Given the description of an element on the screen output the (x, y) to click on. 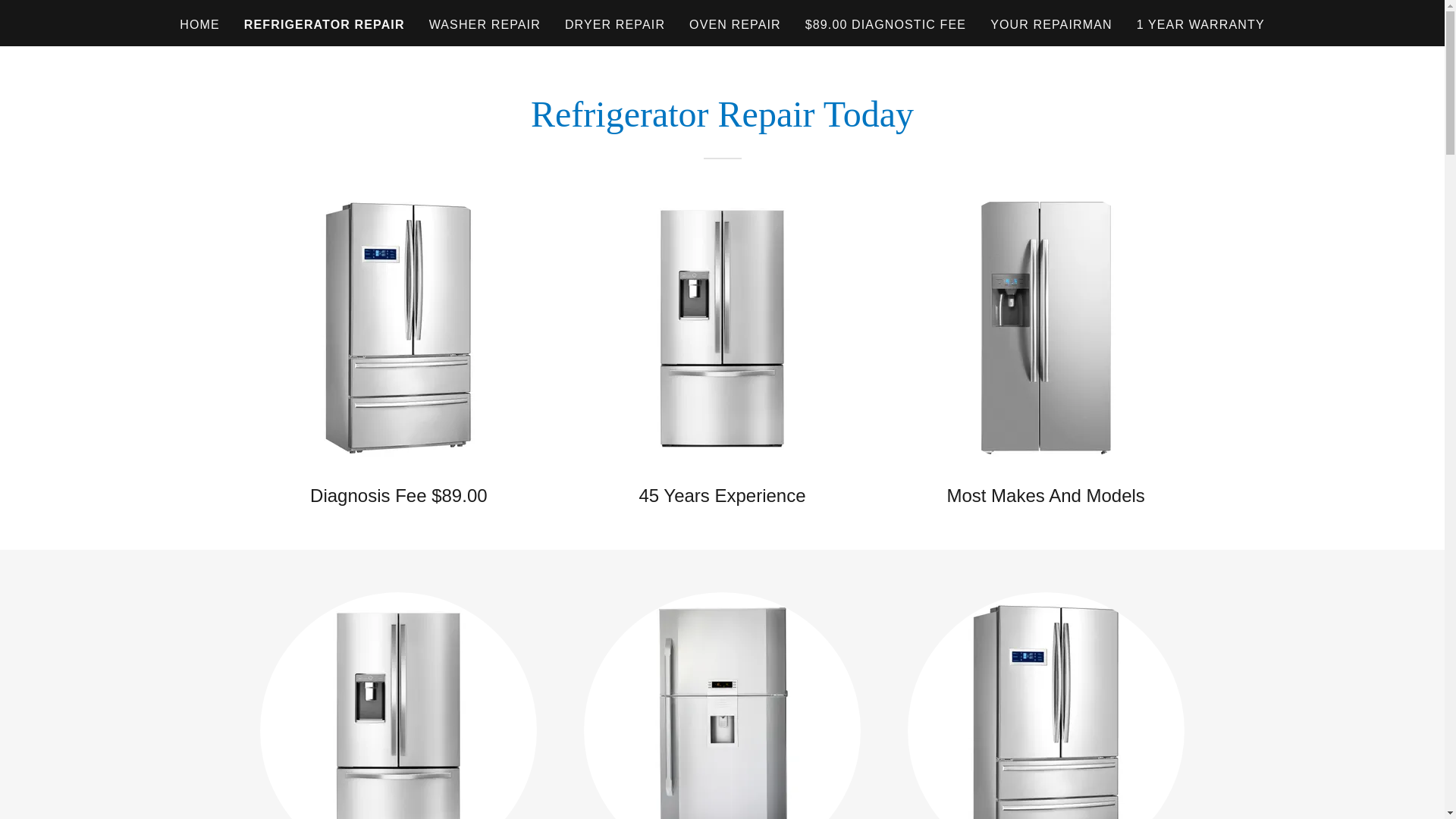
WASHER REPAIR (484, 24)
OVEN REPAIR (735, 24)
REFRIGERATOR REPAIR (324, 24)
1 YEAR WARRANTY (1200, 24)
DRYER REPAIR (614, 24)
YOUR REPAIRMAN (1050, 24)
HOME (199, 24)
